Given the description of an element on the screen output the (x, y) to click on. 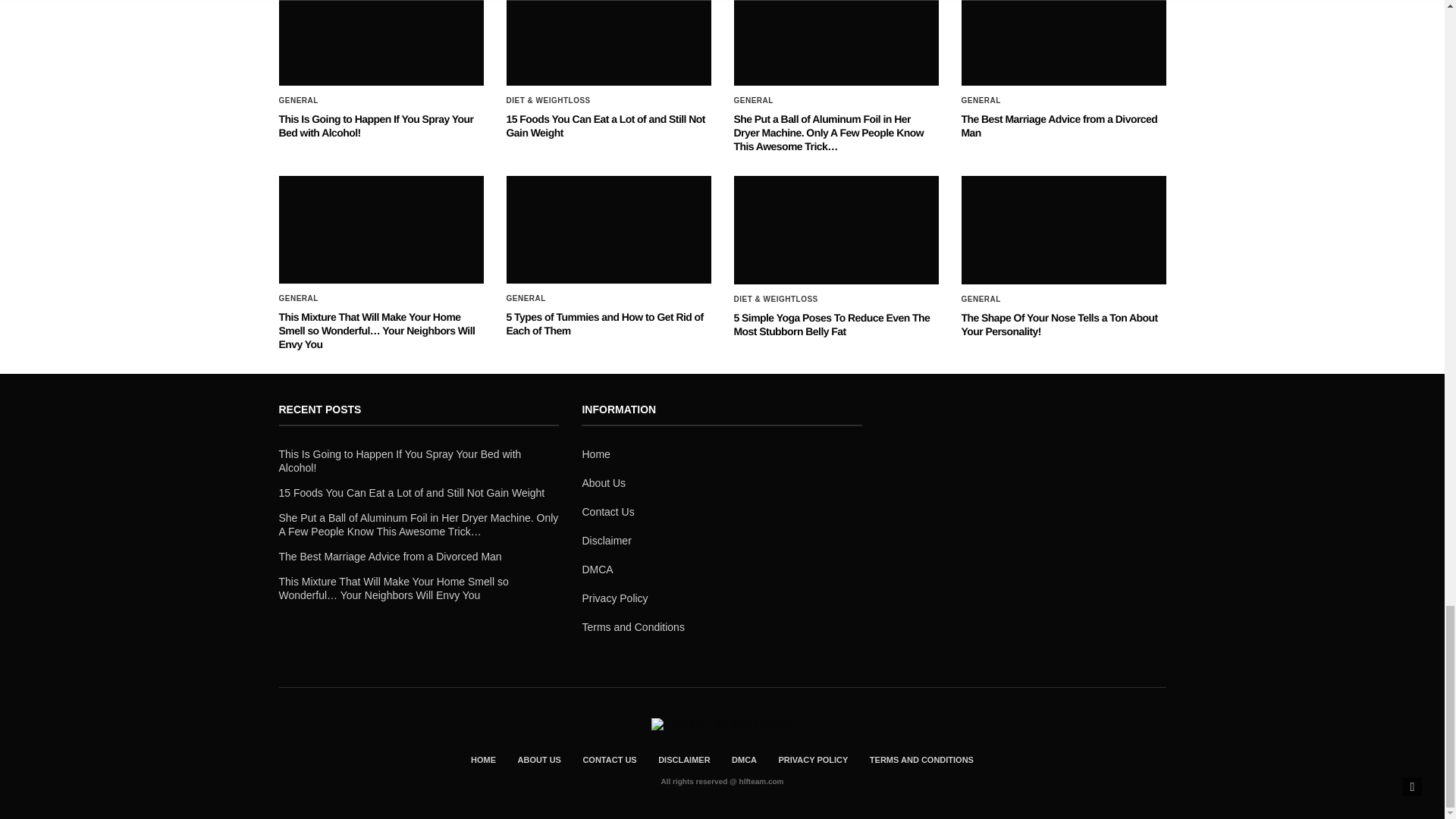
GENERAL (980, 100)
General (298, 100)
This Is Going to Happen If You Spray Your Bed with Alcohol! (376, 125)
This Is Going to Happen If You Spray Your Bed with Alcohol! (381, 42)
General (753, 100)
15 Foods You Can Eat a Lot of and Still Not Gain Weight (605, 125)
GENERAL (753, 100)
GENERAL (298, 100)
This Is Going to Happen If You Spray Your Bed with Alcohol! (376, 125)
15 Foods You Can Eat a Lot of and Still Not Gain Weight (605, 125)
